Given the description of an element on the screen output the (x, y) to click on. 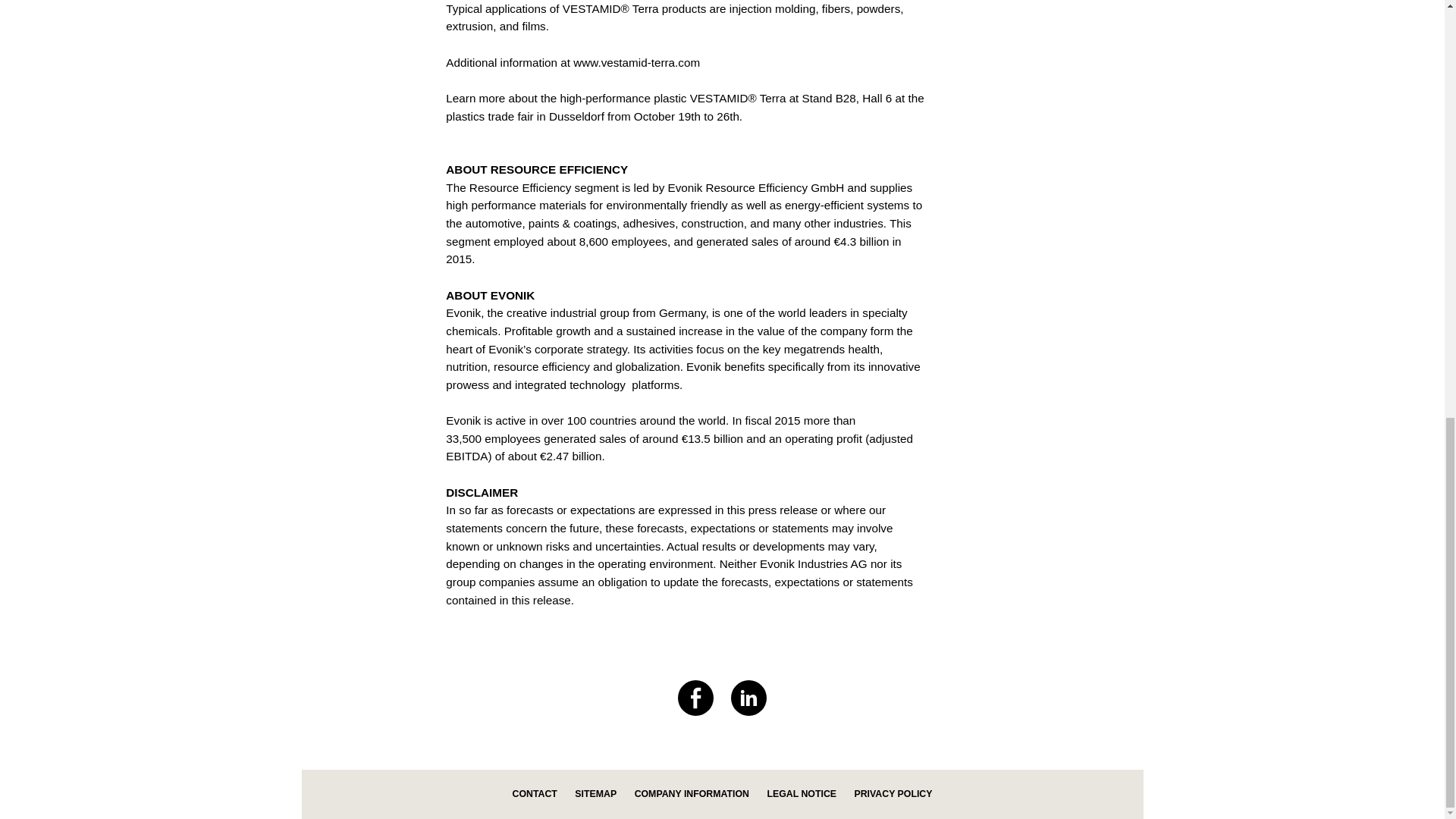
Sitemap (595, 793)
LEGAL NOTICE (801, 793)
LinkedIn (748, 697)
Contact (534, 793)
Facebook (695, 697)
COMPANY INFORMATION (691, 793)
SITEMAP (595, 793)
PRIVACY POLICY (892, 793)
CONTACT (534, 793)
